Given the description of an element on the screen output the (x, y) to click on. 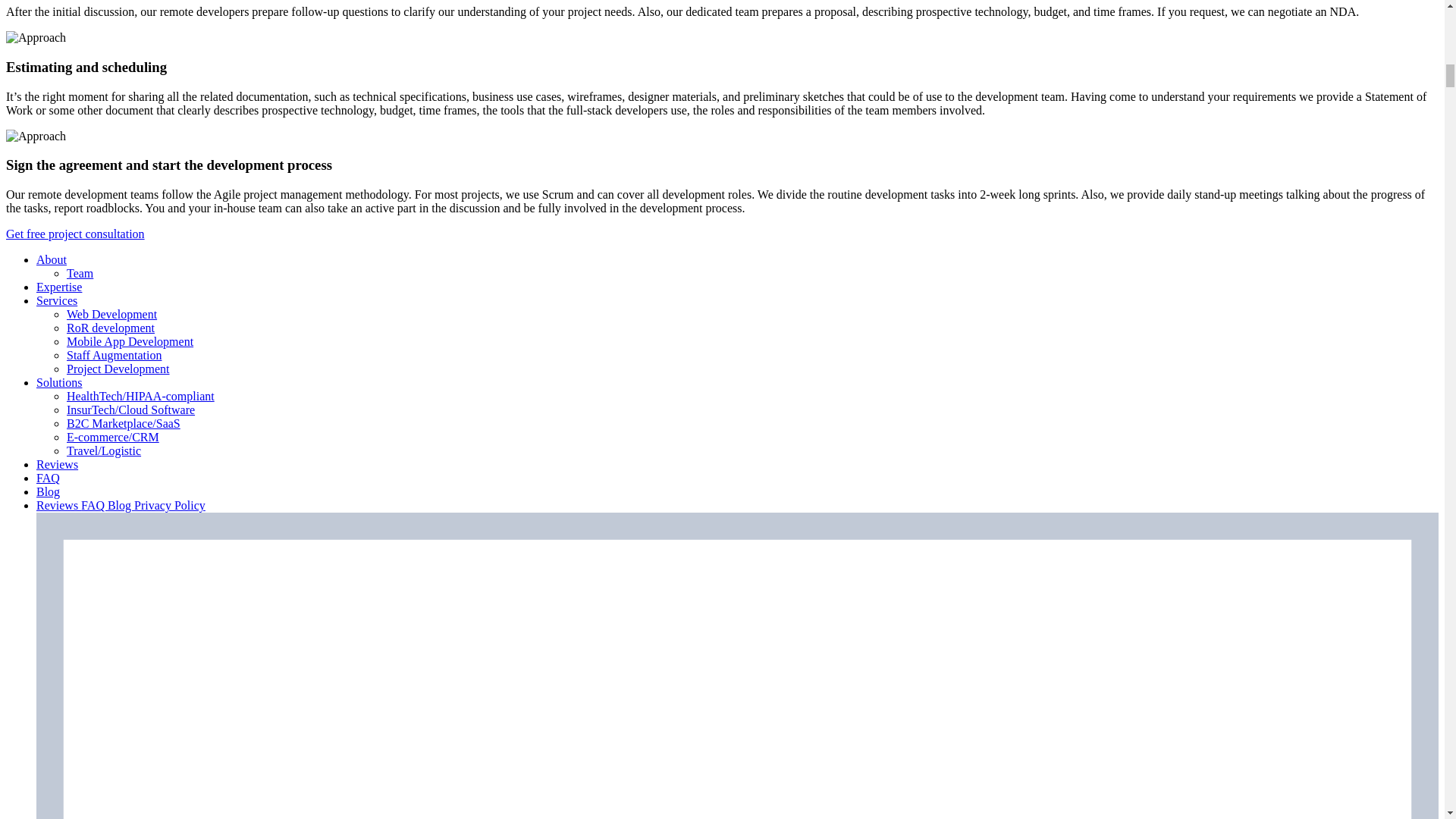
Reviews (57, 463)
Solutions (58, 382)
Get free project consultation (74, 233)
Staff Augmentation (113, 354)
Blog (47, 491)
Services (56, 300)
Blog (120, 504)
Mobile App Development (129, 341)
Team (79, 273)
Reviews (58, 504)
